Given the description of an element on the screen output the (x, y) to click on. 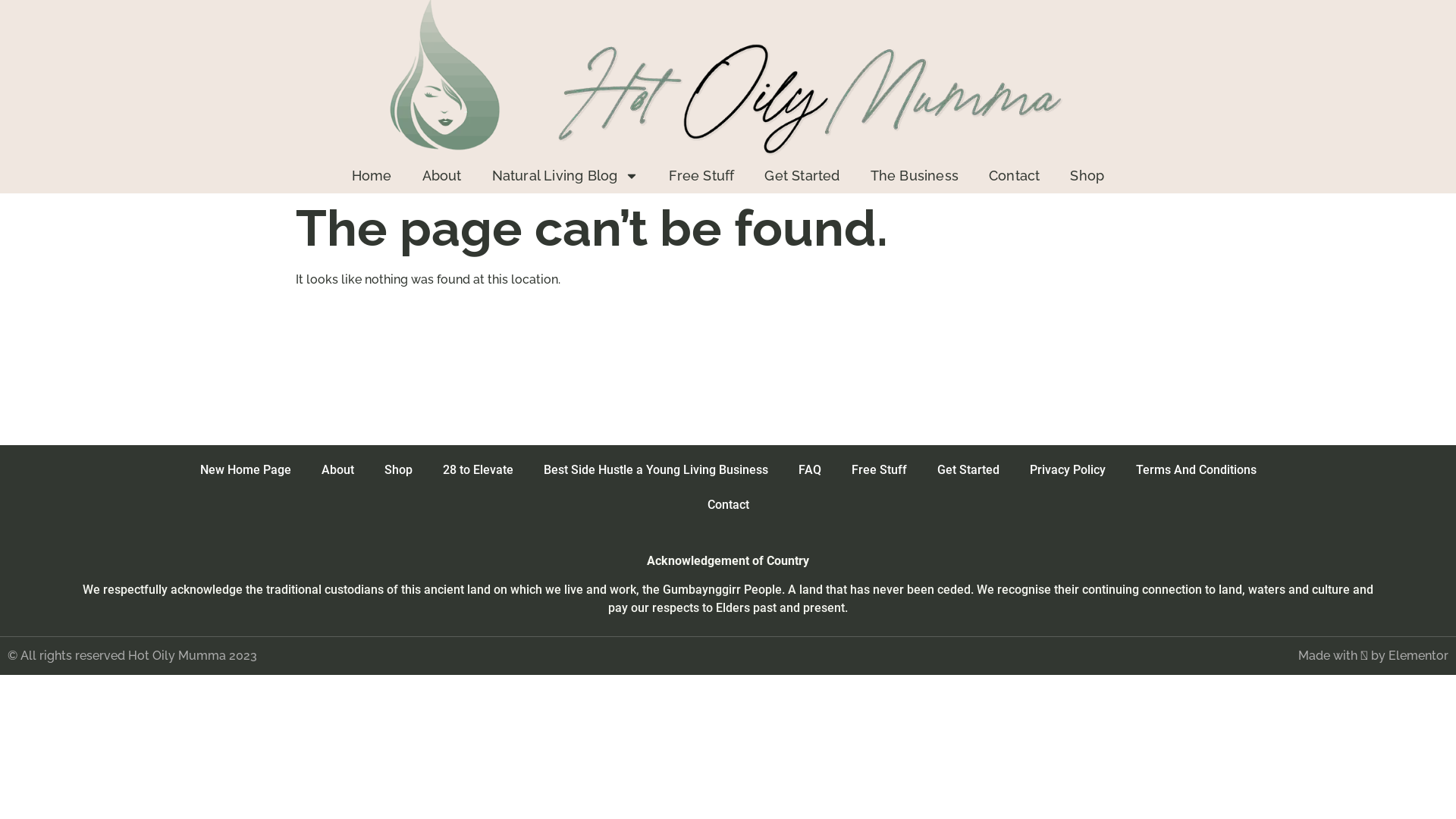
About Element type: text (441, 175)
Contact Element type: text (727, 504)
Free Stuff Element type: text (878, 469)
Home Element type: text (371, 175)
Terms And Conditions Element type: text (1195, 469)
The Business Element type: text (914, 175)
Best Side Hustle a Young Living Business Element type: text (654, 469)
New Home Page Element type: text (245, 469)
Get Started Element type: text (801, 175)
28 to Elevate Element type: text (477, 469)
Free Stuff Element type: text (701, 175)
Shop Element type: text (397, 469)
About Element type: text (337, 469)
Shop Element type: text (1086, 175)
Contact Element type: text (1013, 175)
Privacy Policy Element type: text (1067, 469)
Natural Living Blog Element type: text (565, 175)
Get Started Element type: text (968, 469)
FAQ Element type: text (808, 469)
